Given the description of an element on the screen output the (x, y) to click on. 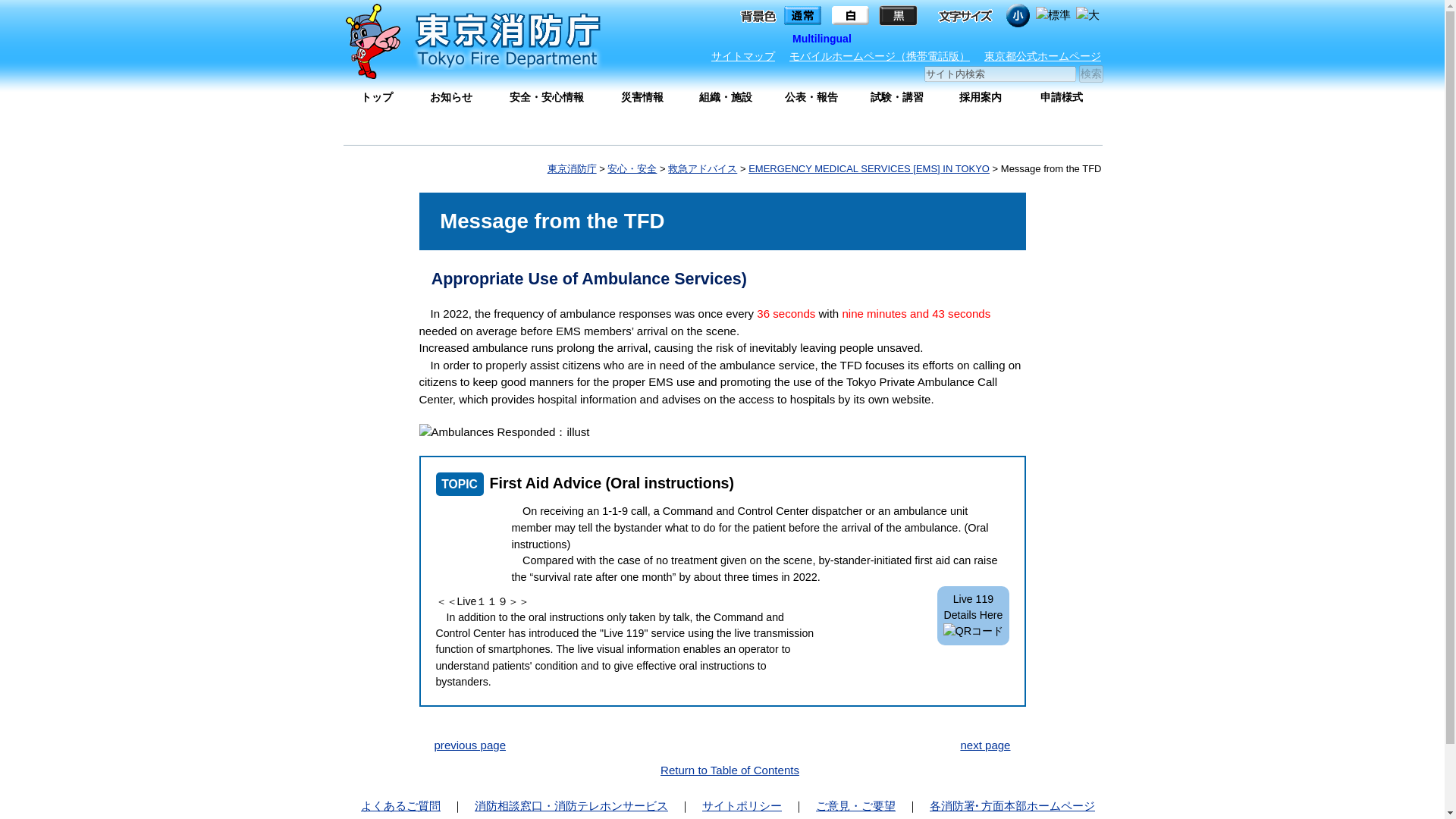
Chinese (928, 38)
English (877, 38)
Korean (977, 38)
Thai (1027, 38)
Pilipino (1076, 38)
